Given the description of an element on the screen output the (x, y) to click on. 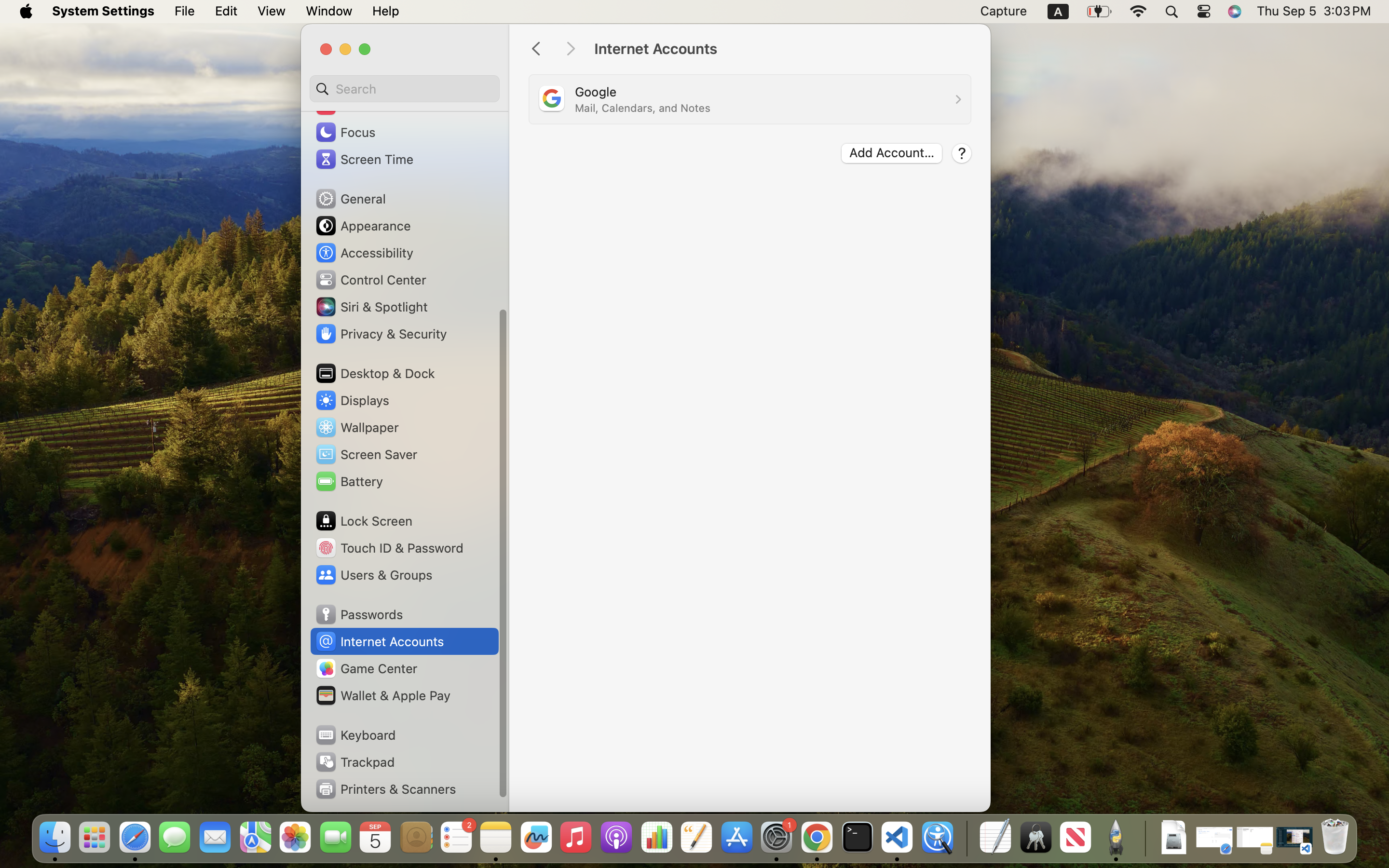
Wallet & Apple Pay Element type: AXStaticText (382, 694)
Game Center Element type: AXStaticText (365, 667)
Touch ID & Password Element type: AXStaticText (388, 547)
Keyboard Element type: AXStaticText (354, 734)
Control Center Element type: AXStaticText (370, 279)
